Given the description of an element on the screen output the (x, y) to click on. 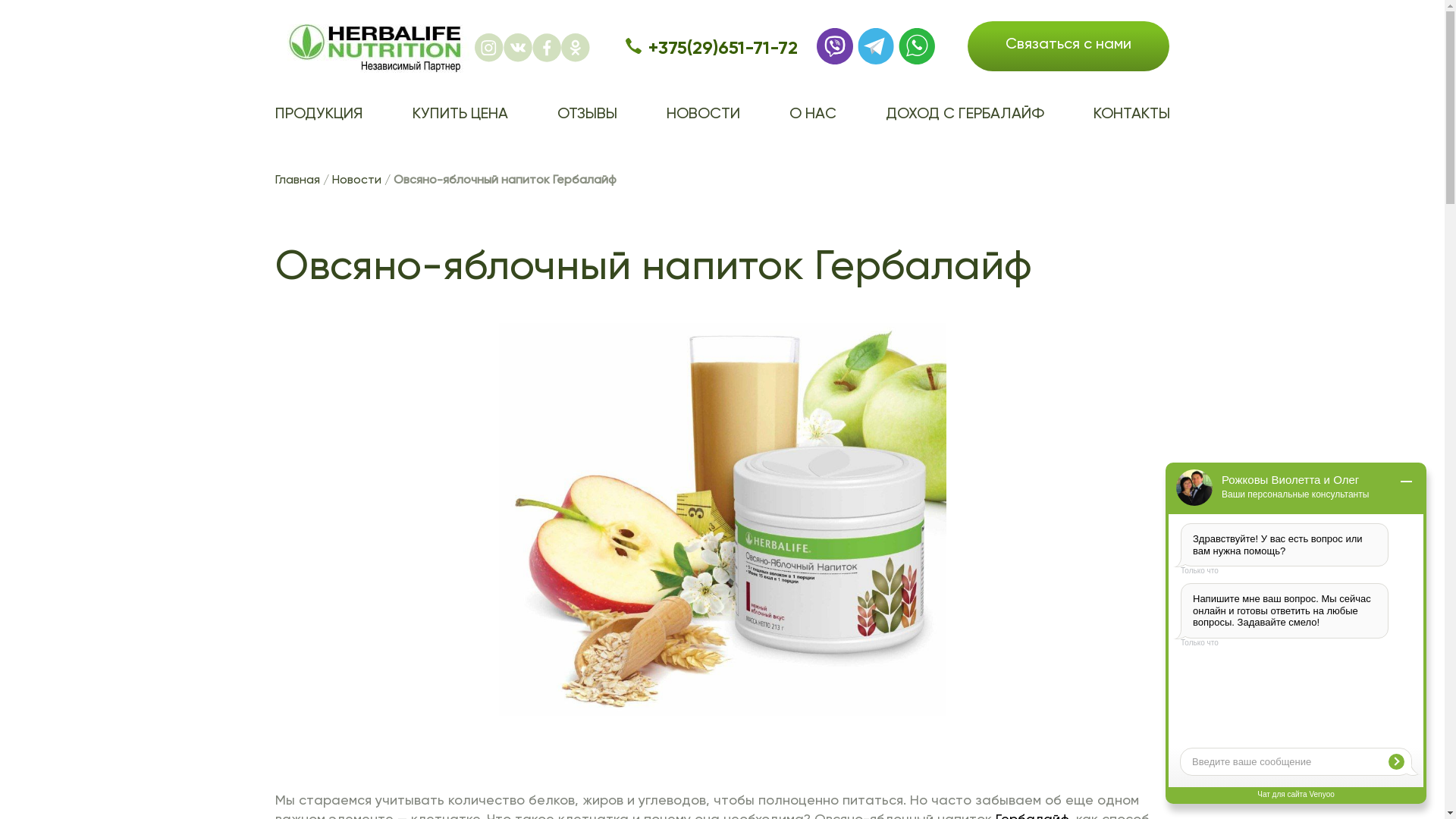
+375(29)651-71-72 Element type: text (722, 47)
